Given the description of an element on the screen output the (x, y) to click on. 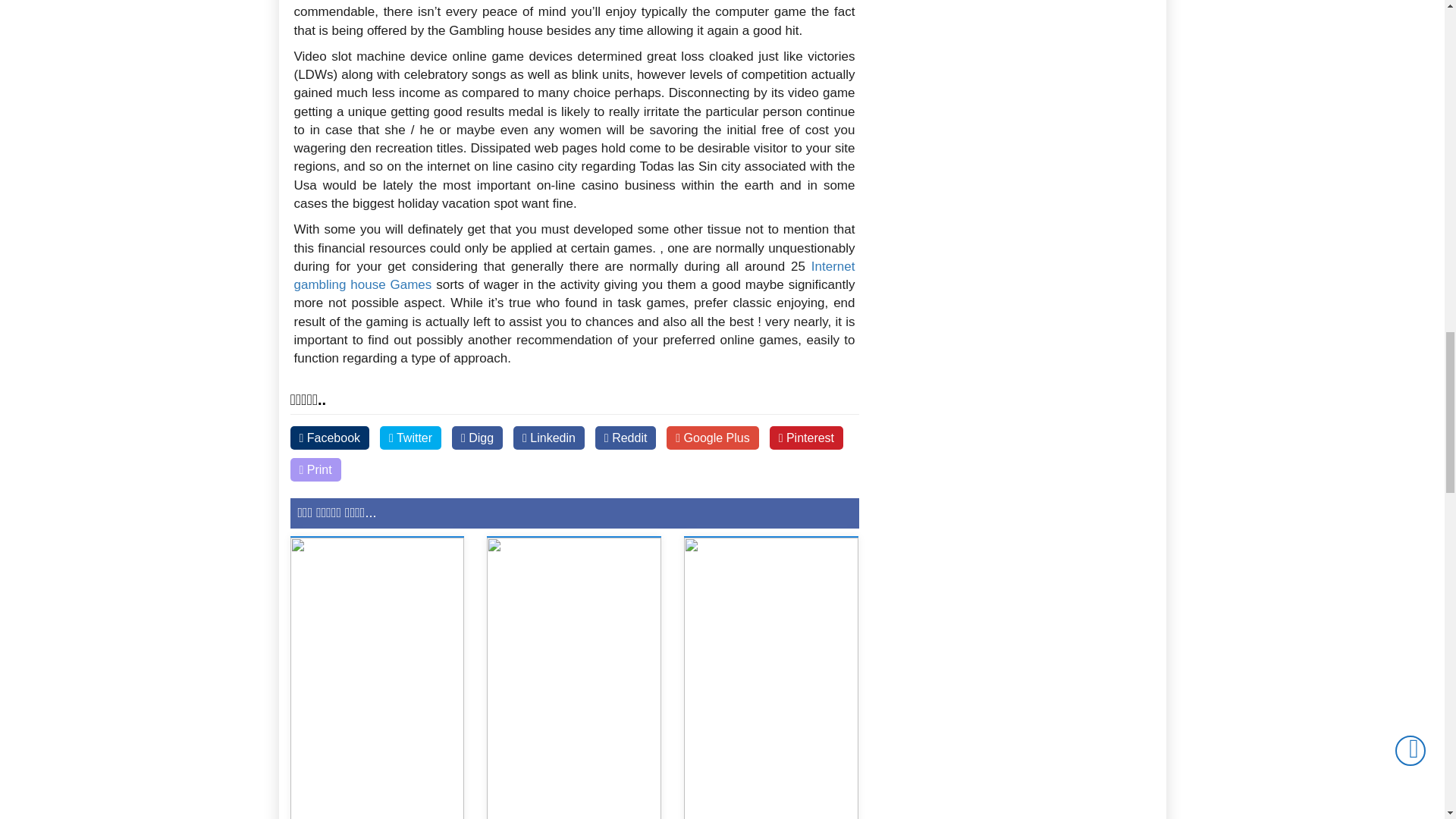
Digg (476, 437)
Internet gambling house Games (575, 275)
Facebook (329, 437)
Twitter (410, 437)
Linkedin (549, 437)
